Given the description of an element on the screen output the (x, y) to click on. 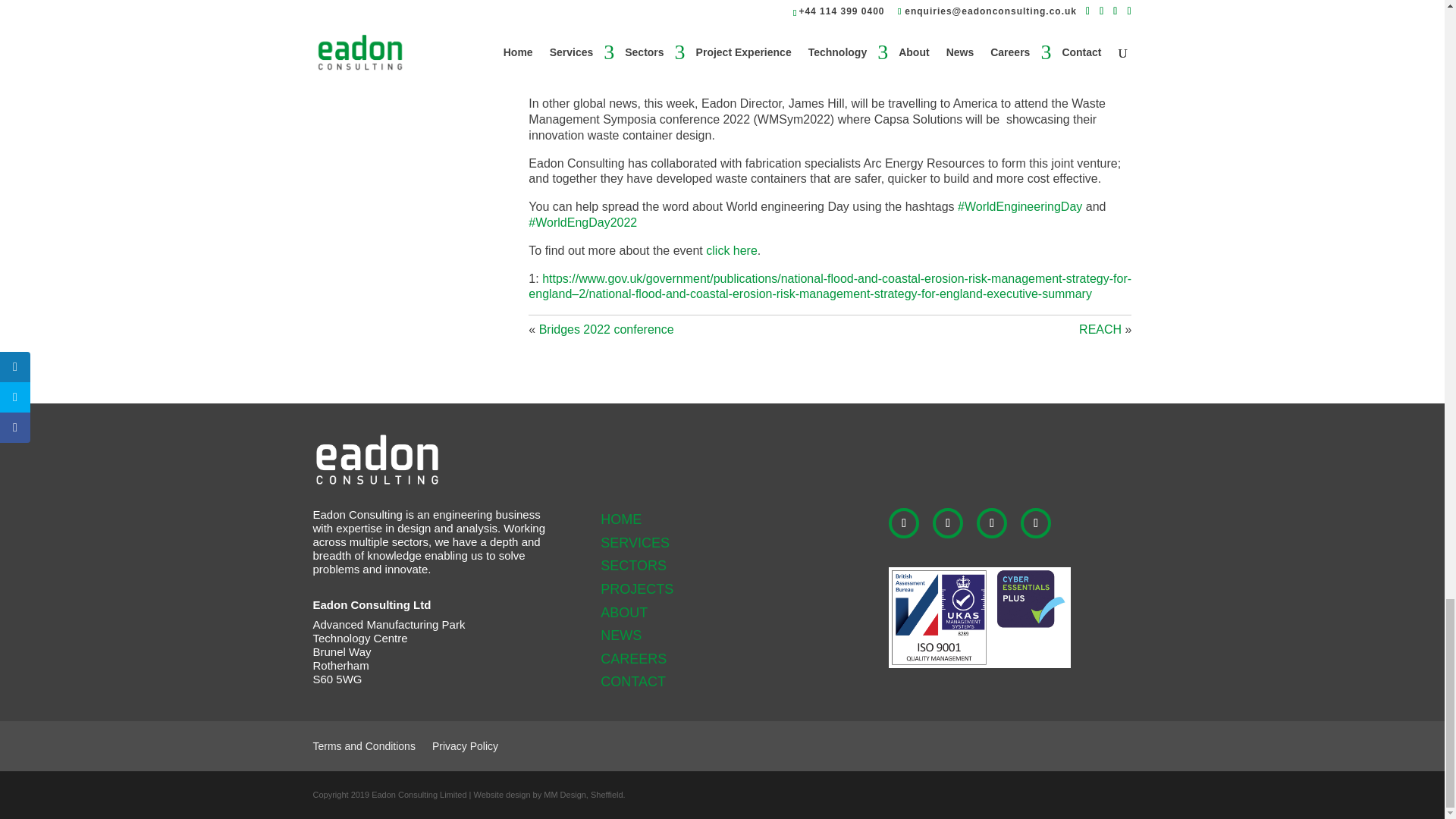
Follow on Facebook (947, 522)
Follow on LinkedIn (903, 522)
Follow on Twitter (991, 522)
Follow on Instagram (1035, 522)
